Given the description of an element on the screen output the (x, y) to click on. 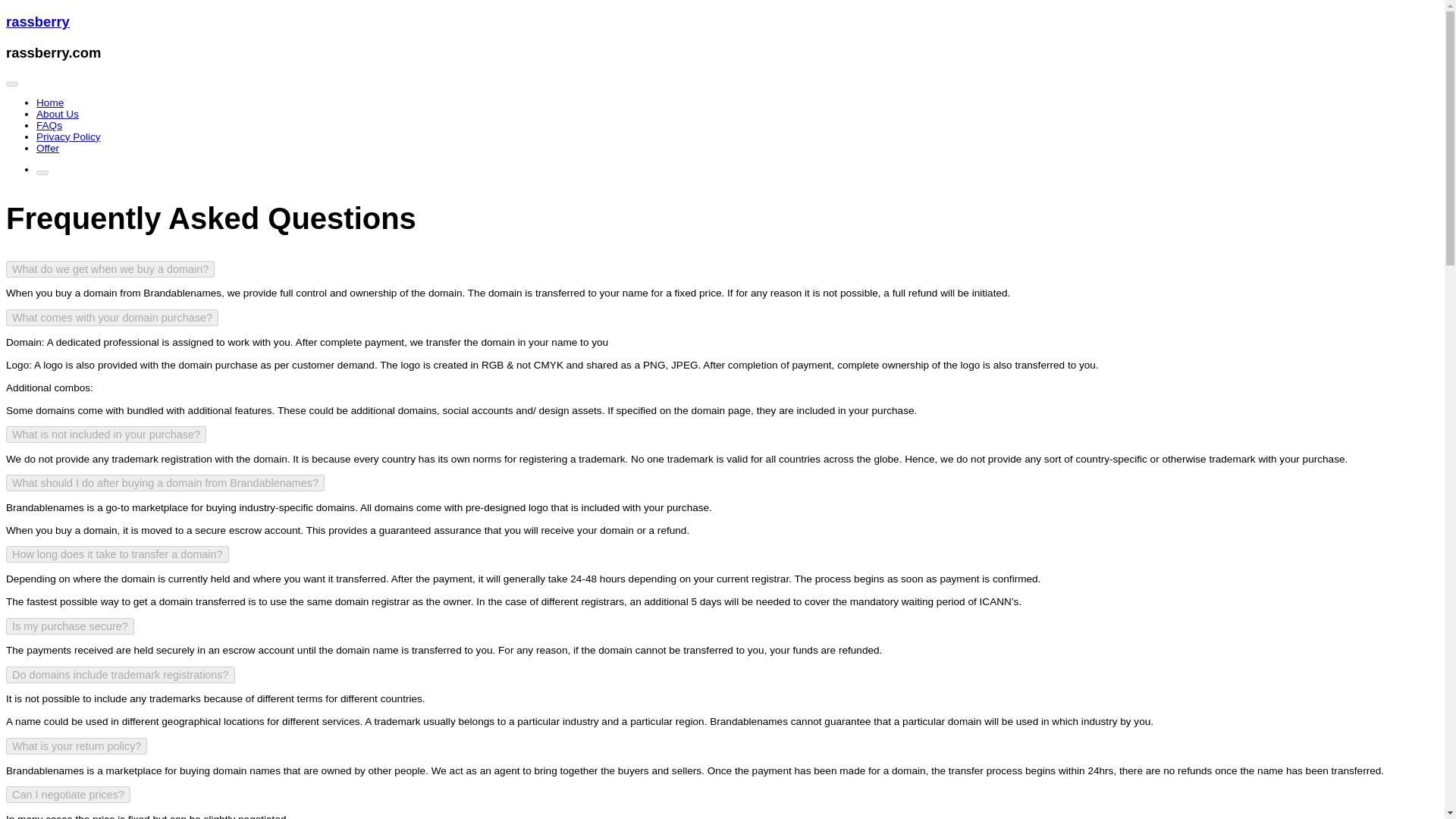
Home (50, 102)
Is my purchase secure? (69, 626)
What is not included in your purchase? (105, 434)
Privacy Policy (68, 136)
Can I negotiate prices? (68, 794)
What comes with your domain purchase? (111, 317)
Offer (47, 147)
What is your return policy? (76, 745)
About Us (57, 113)
FAQs (49, 125)
How long does it take to transfer a domain? (116, 554)
What do we get when we buy a domain? (109, 269)
Do domains include trademark registrations? (119, 674)
What should I do after buying a domain from Brandablenames? (164, 483)
